Given the description of an element on the screen output the (x, y) to click on. 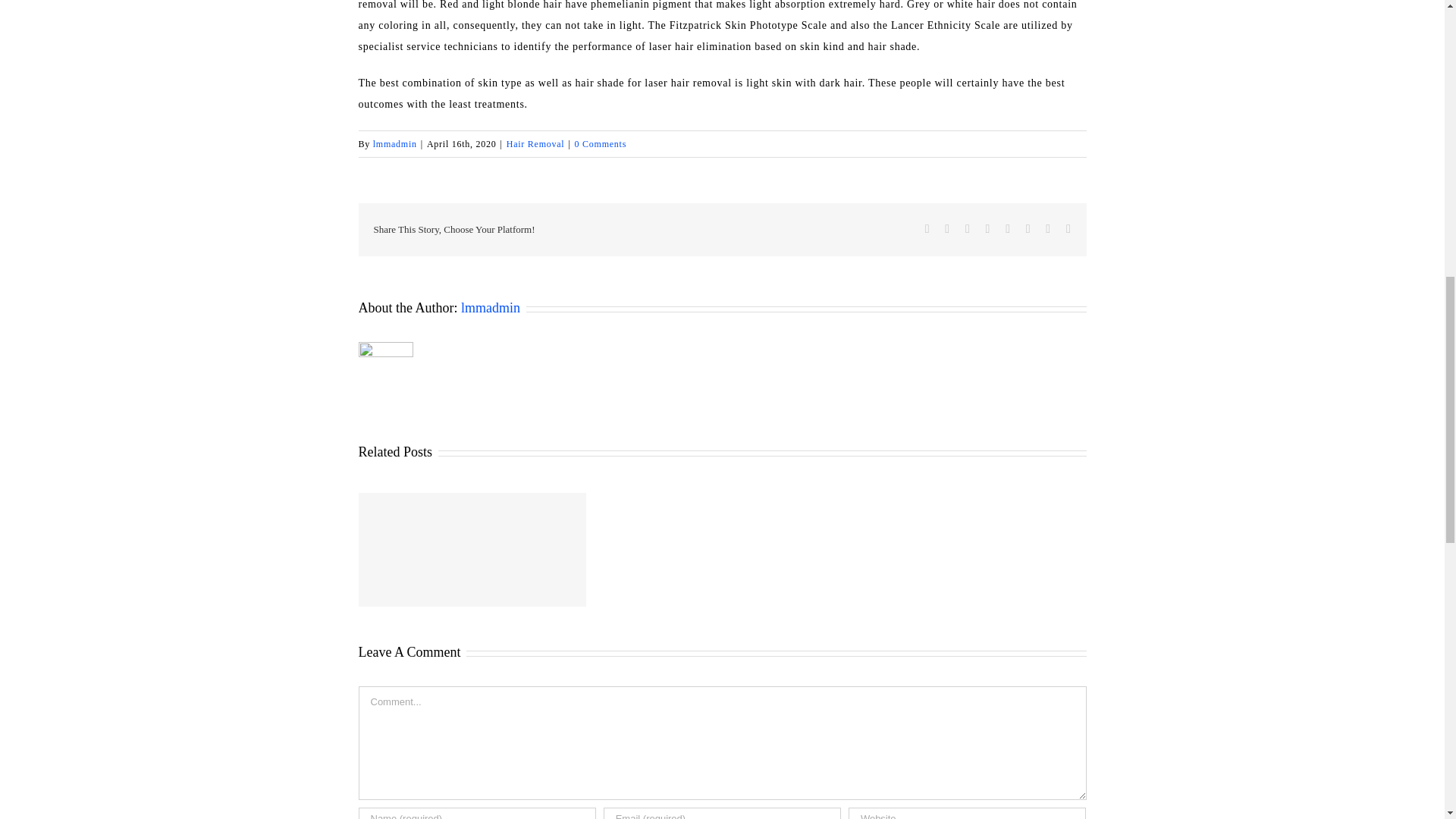
Posts by lmmadmin (490, 307)
Posts by lmmadmin (394, 143)
